Given the description of an element on the screen output the (x, y) to click on. 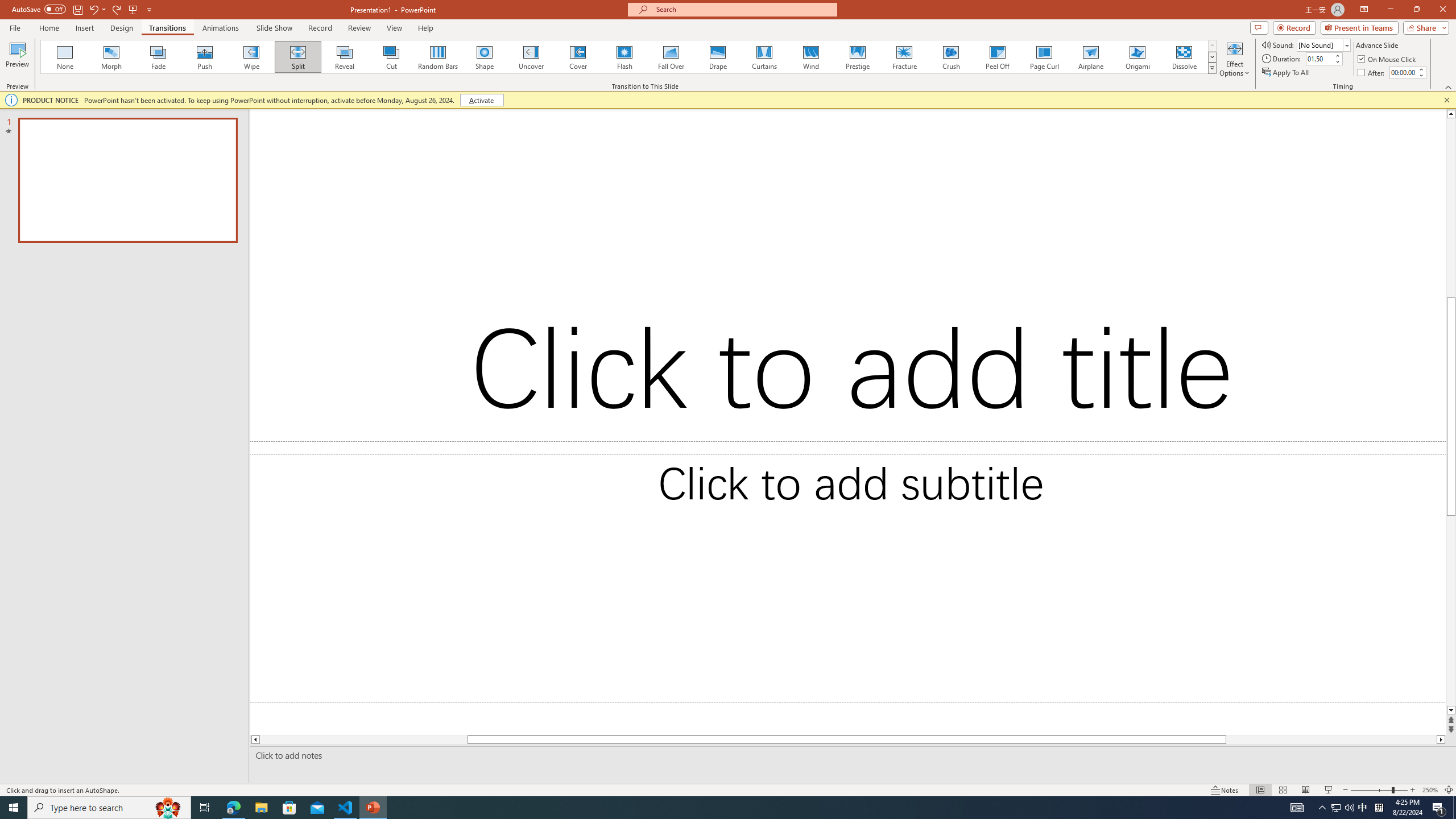
Less (1420, 75)
Page Curl (1043, 56)
Class: MsoCommandBar (728, 789)
Microsoft search (742, 9)
Push (205, 56)
Prestige (857, 56)
Zoom 250% (1430, 790)
